Given the description of an element on the screen output the (x, y) to click on. 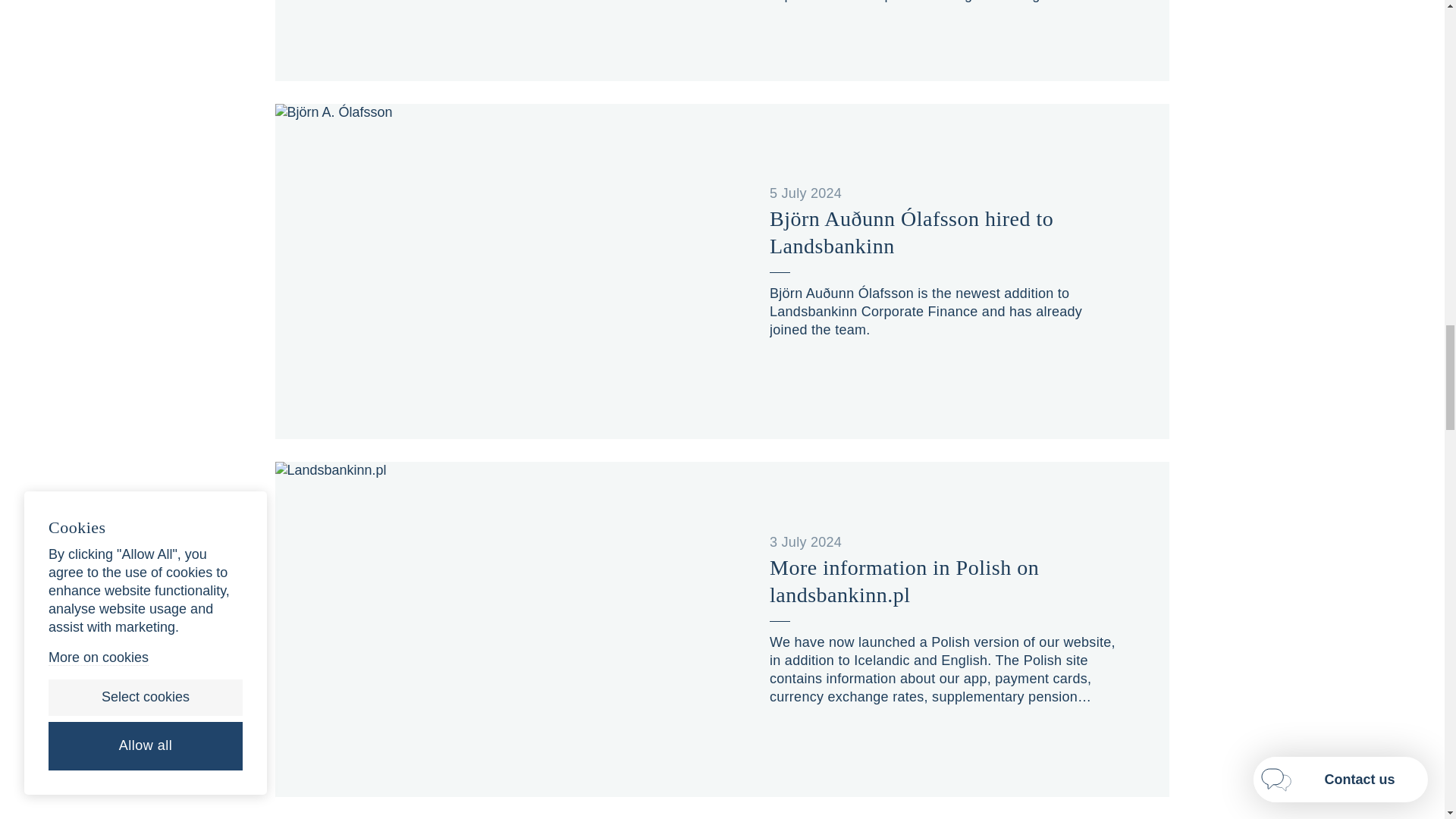
More information in Polish on landsbankinn.pl (945, 581)
More information in Polish on landsbankinn.pl (945, 581)
